Given the description of an element on the screen output the (x, y) to click on. 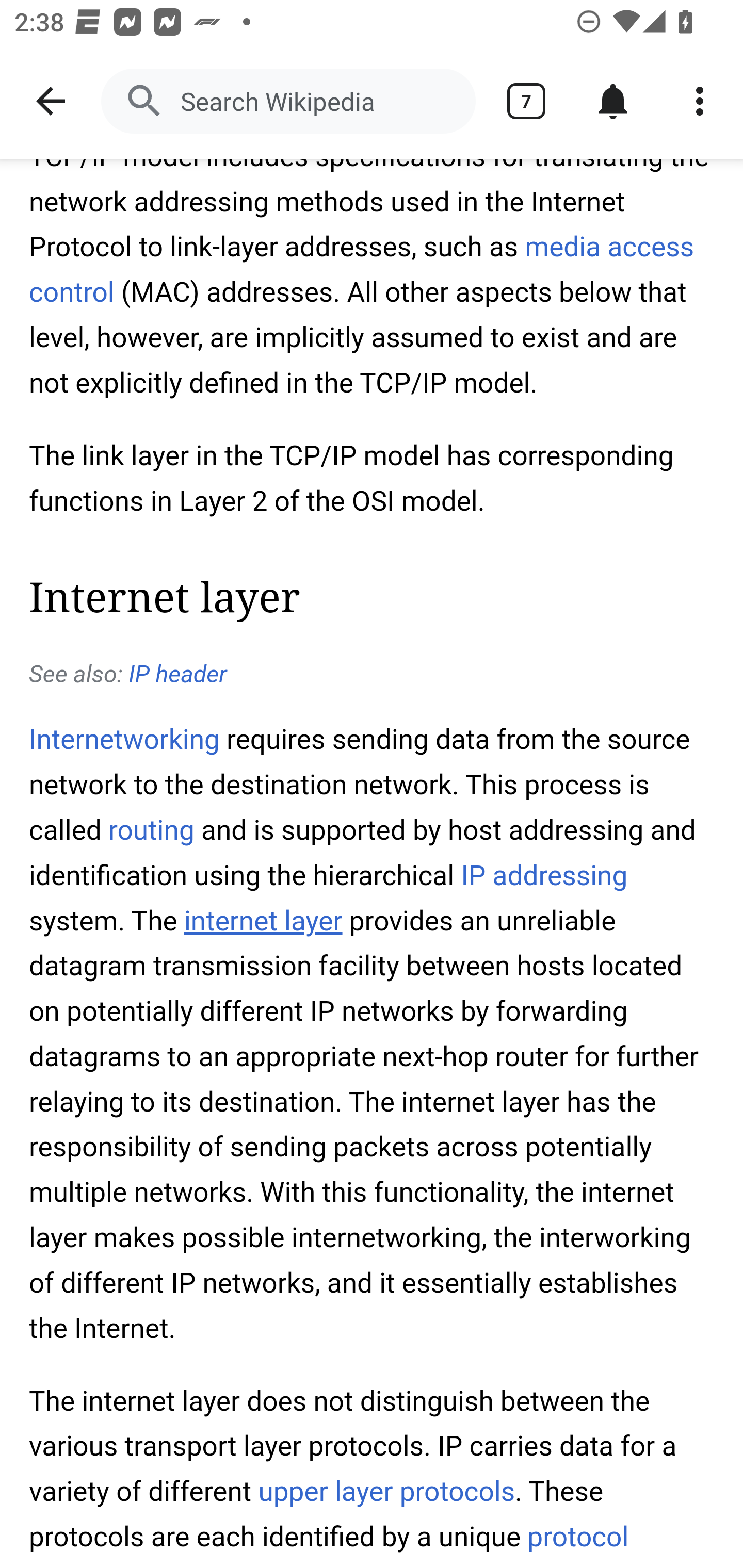
Show tabs 7 (525, 100)
Notifications (612, 100)
Navigate up (50, 101)
More options (699, 101)
Search Wikipedia (288, 100)
media access control (361, 270)
IP header (177, 675)
Internetworking (124, 741)
routing (151, 830)
IP addressing (543, 876)
internet layer (262, 922)
upper layer protocols (386, 1493)
protocol number (329, 1544)
